Given the description of an element on the screen output the (x, y) to click on. 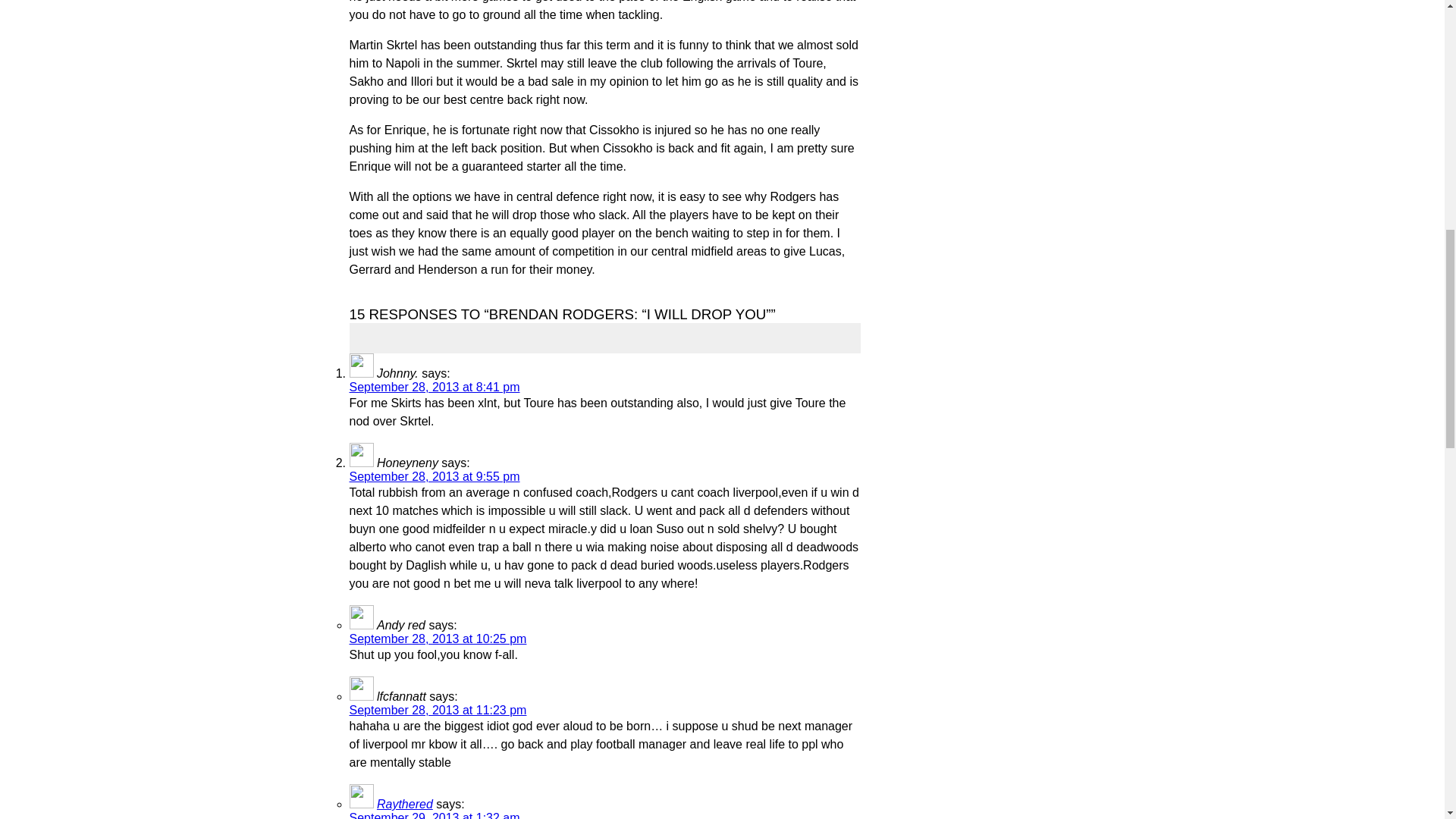
September 28, 2013 at 9:55 pm (434, 476)
September 28, 2013 at 8:41 pm (434, 386)
Raythered (404, 803)
September 29, 2013 at 1:32 am (434, 815)
September 28, 2013 at 11:23 pm (437, 709)
September 28, 2013 at 10:25 pm (437, 638)
